Given the description of an element on the screen output the (x, y) to click on. 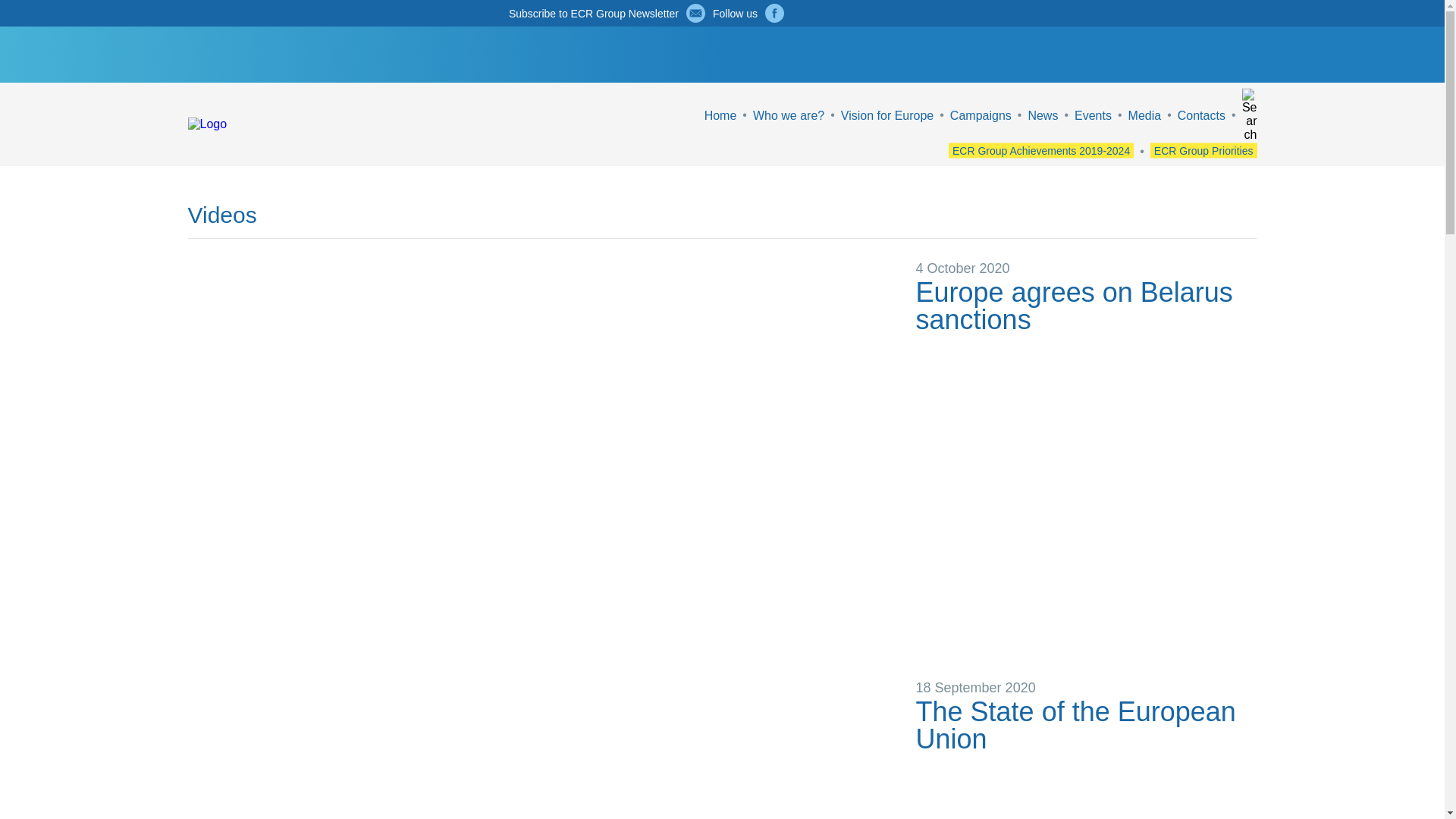
Media (1144, 114)
News (1042, 114)
ECR Group Priorities (1203, 150)
Vision for Europe (887, 114)
Events (1093, 114)
Home (720, 114)
Subscribe to ECR Group Newsletter (593, 13)
Who we are? (788, 114)
Contacts (1201, 114)
ECR Group Achievements 2019-2024 (1041, 150)
